Given the description of an element on the screen output the (x, y) to click on. 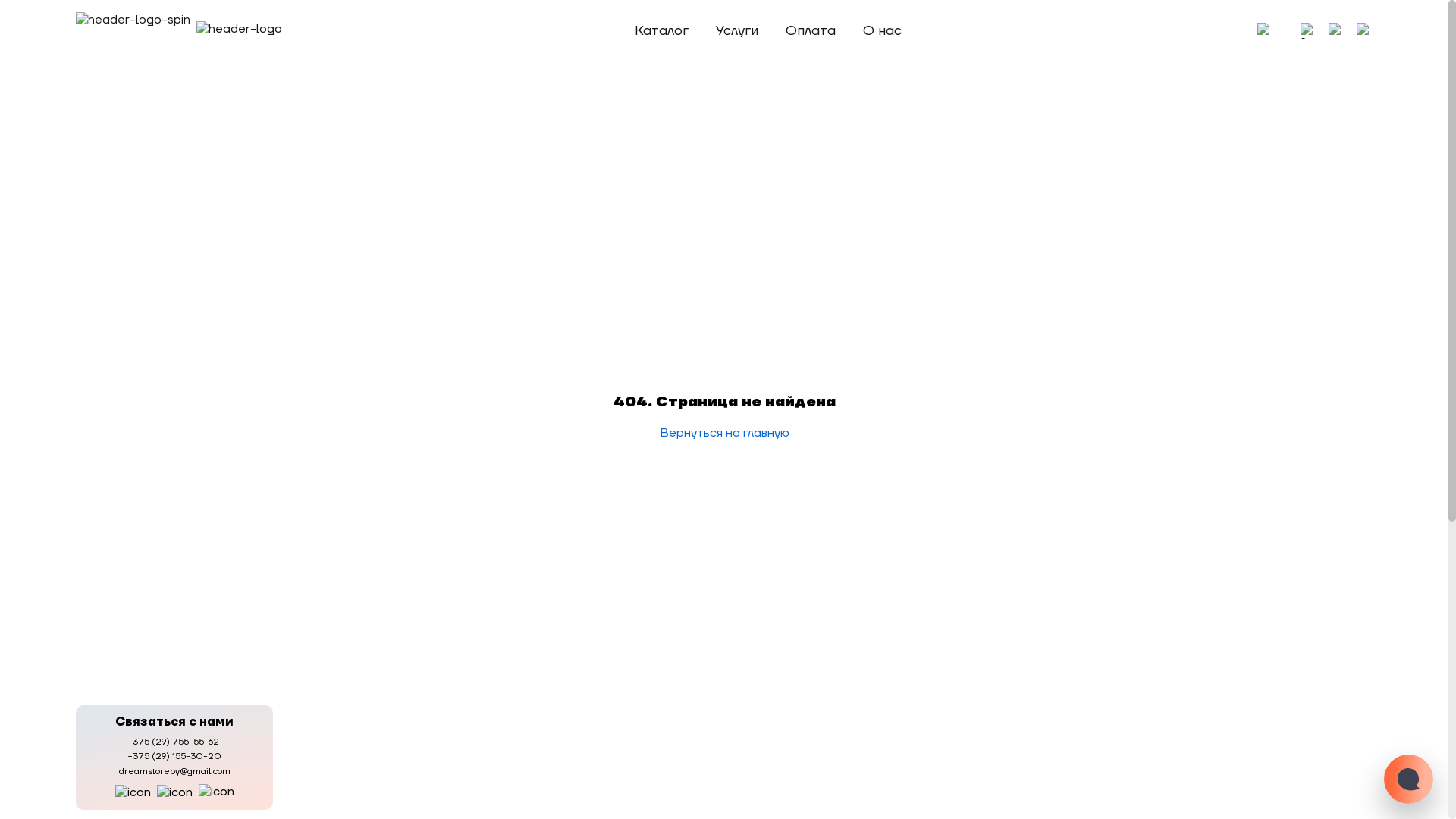
dreamstoreby@gmail.com Element type: text (173, 771)
+375 (29) 155-30-20 Element type: text (174, 756)
+375 (29) 755-55-62 Element type: text (174, 741)
